Given the description of an element on the screen output the (x, y) to click on. 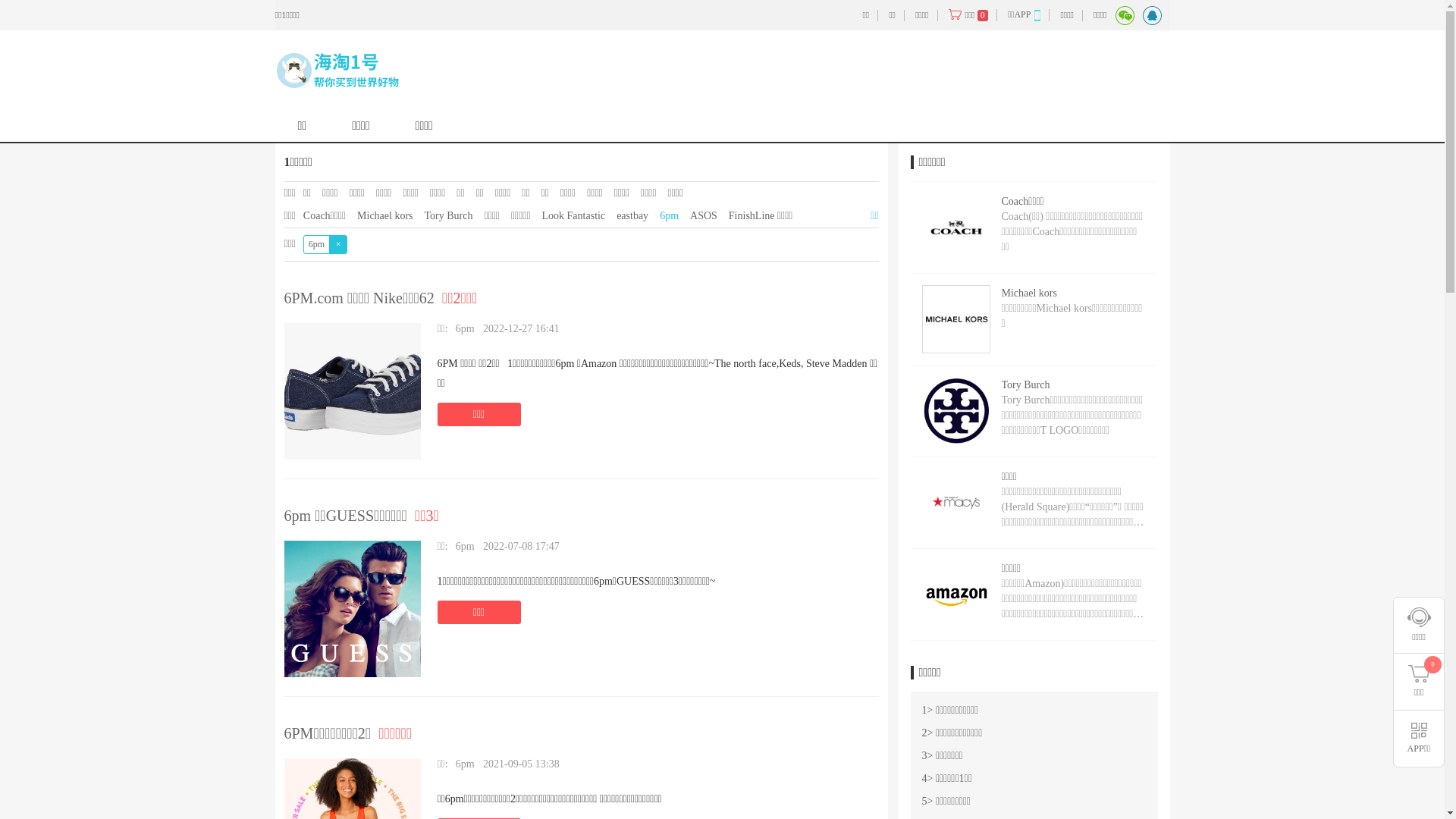
Tory Burch Element type: text (448, 215)
6pm Element type: text (668, 215)
6pm Element type: text (465, 546)
6pm Element type: text (465, 763)
6pm Element type: text (465, 328)
Look Fantastic Element type: text (573, 215)
eastbay Element type: text (632, 215)
Michael kors Element type: text (384, 215)
ASOS Element type: text (703, 215)
